Given the description of an element on the screen output the (x, y) to click on. 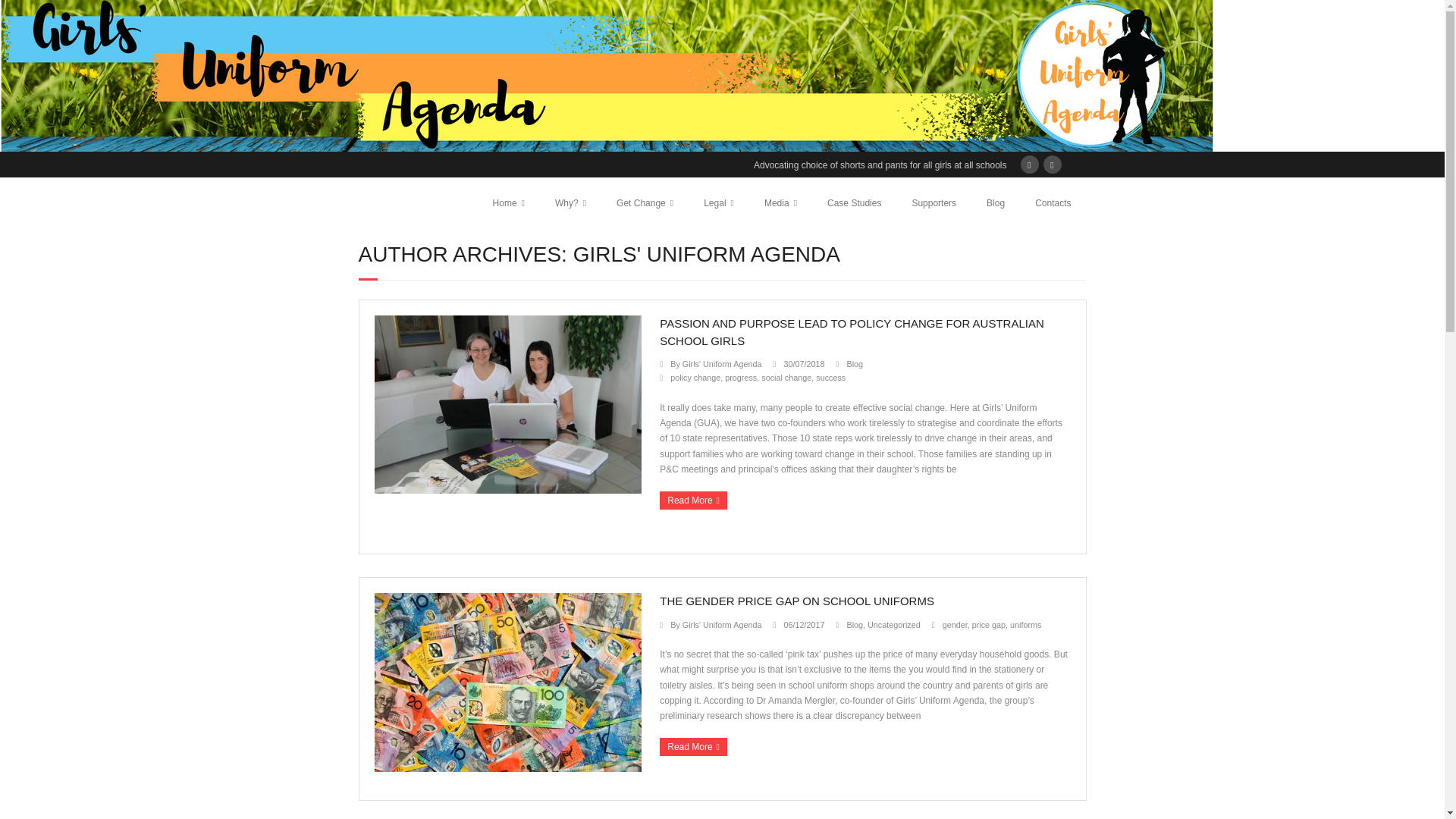
View all posts by Girls' Uniform Agenda (721, 363)
Case Studies (854, 203)
The gender price gap on school uniforms (803, 624)
Legal (718, 203)
Home (508, 203)
Contacts (1053, 203)
Blog (995, 203)
Get Change (644, 203)
